Given the description of an element on the screen output the (x, y) to click on. 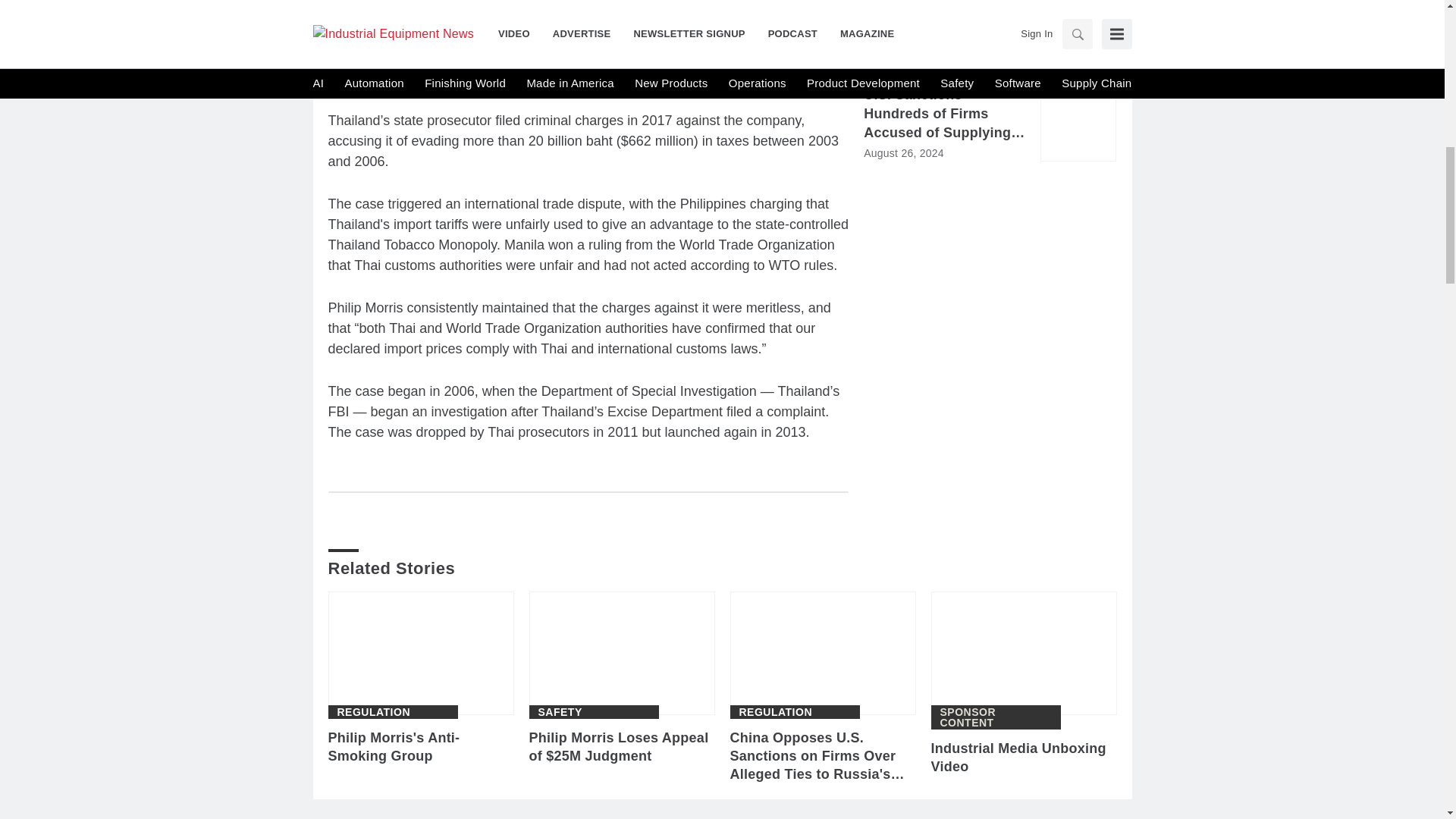
Regulation (775, 711)
Regulation (373, 711)
Safety (560, 711)
Sponsor Content (996, 717)
